Given the description of an element on the screen output the (x, y) to click on. 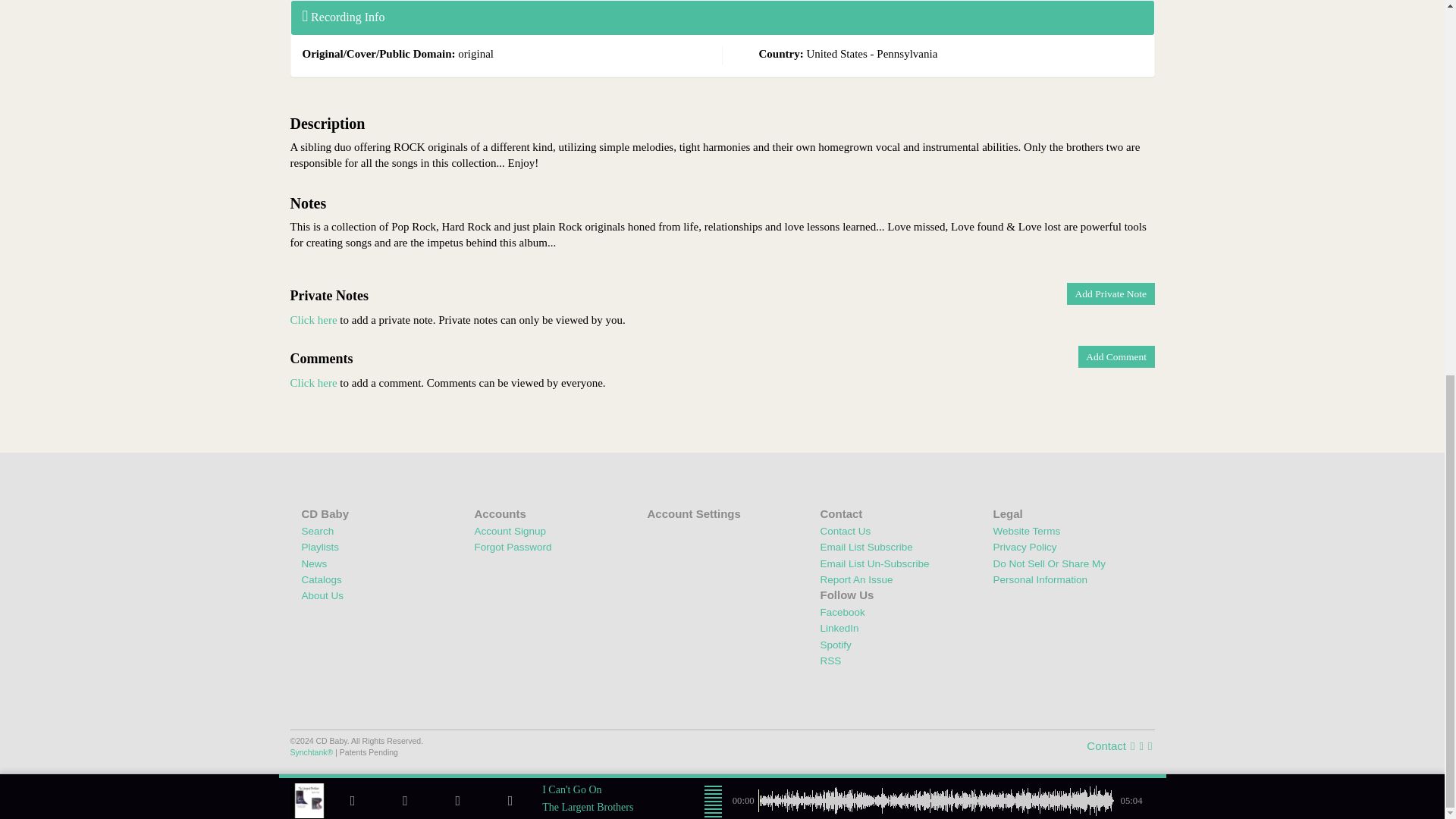
Add Comment (1116, 356)
Click here (312, 382)
Click here (312, 319)
Recording Info (342, 16)
Search (317, 531)
Add Private Note (1110, 293)
